Given the description of an element on the screen output the (x, y) to click on. 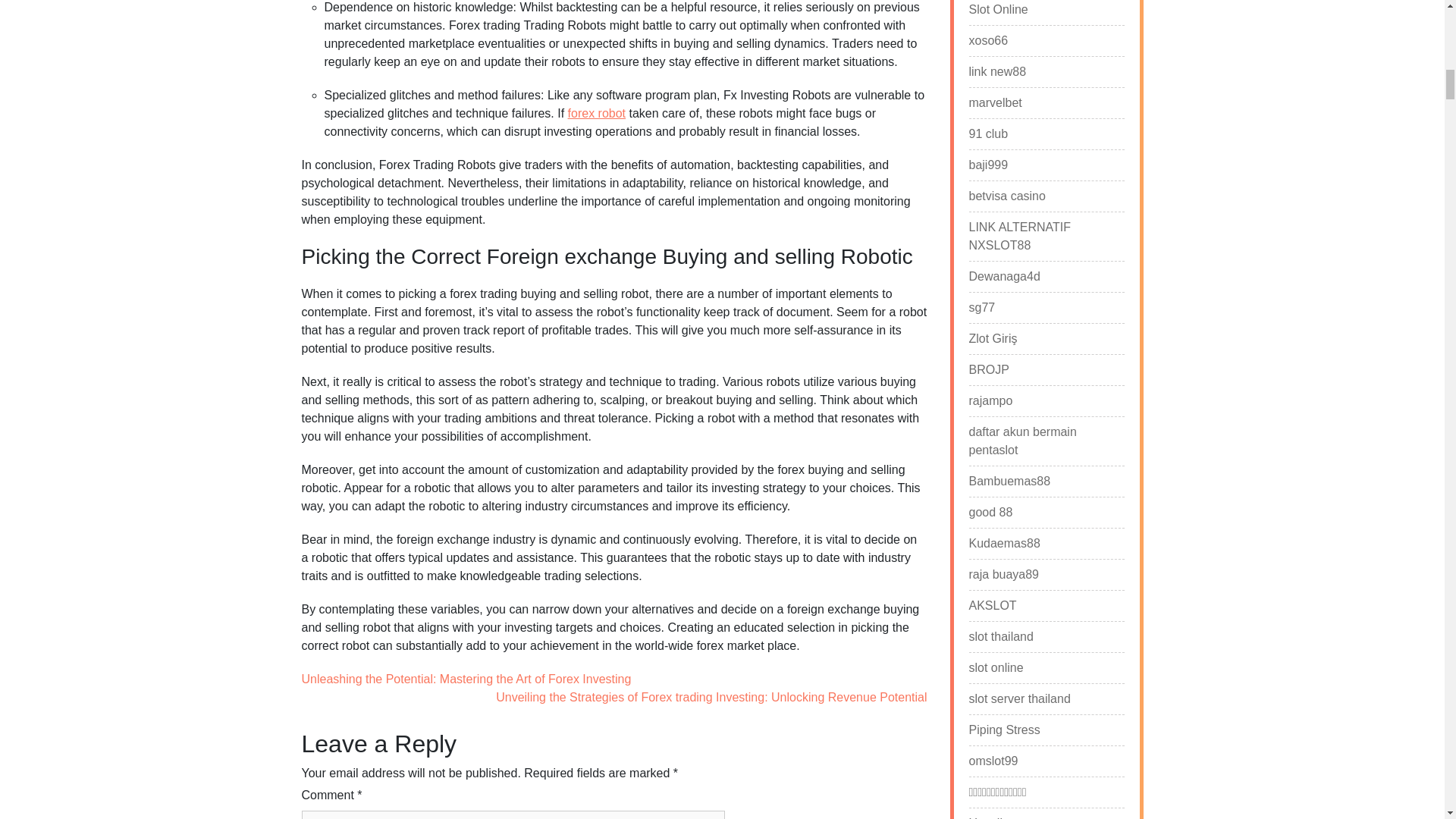
forex robot (596, 113)
xoso66 (989, 40)
Slot Online (998, 9)
91 club (989, 134)
marvelbet (995, 103)
link new88 (997, 72)
